Given the description of an element on the screen output the (x, y) to click on. 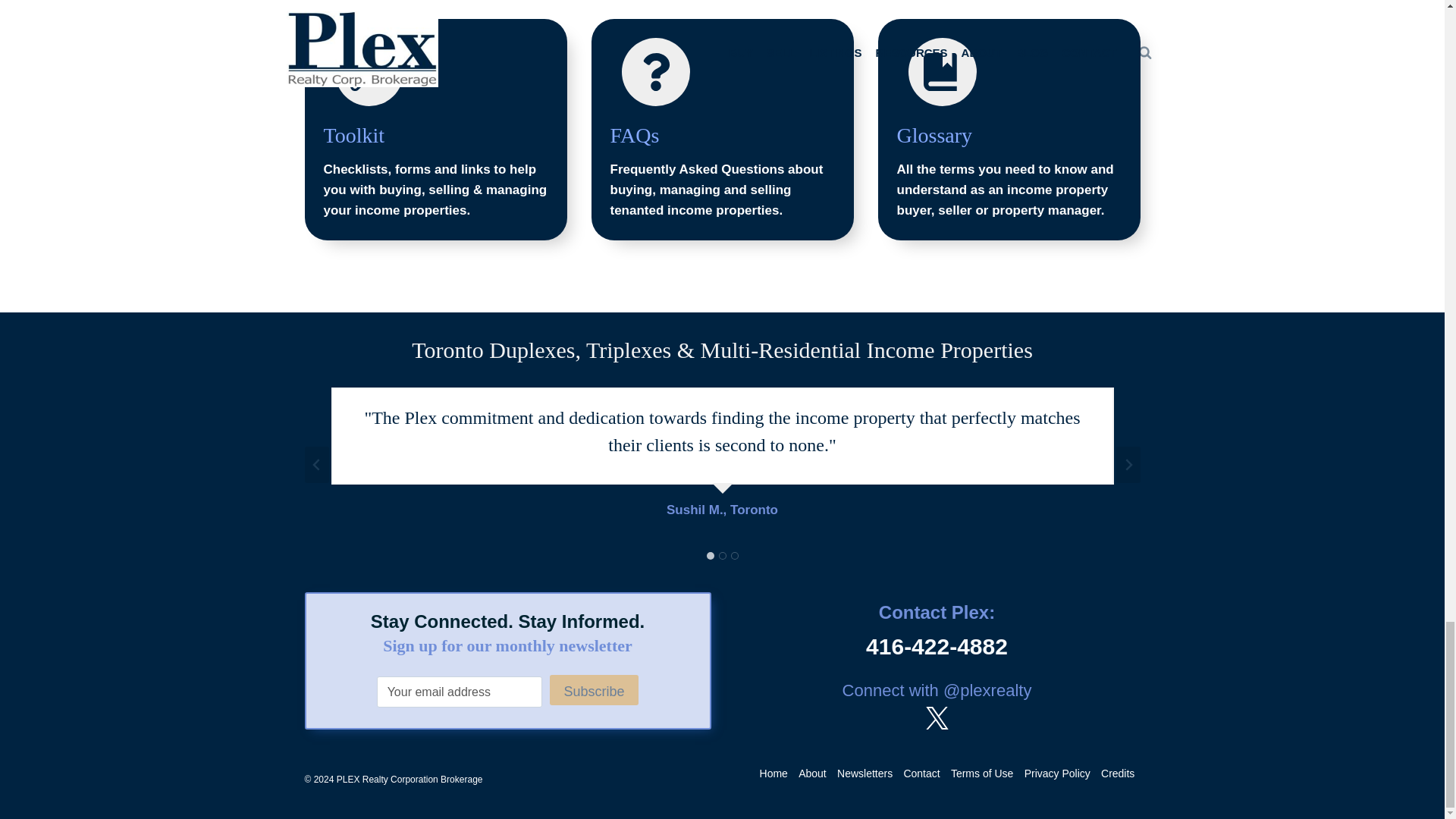
Subscribe (593, 689)
